Given the description of an element on the screen output the (x, y) to click on. 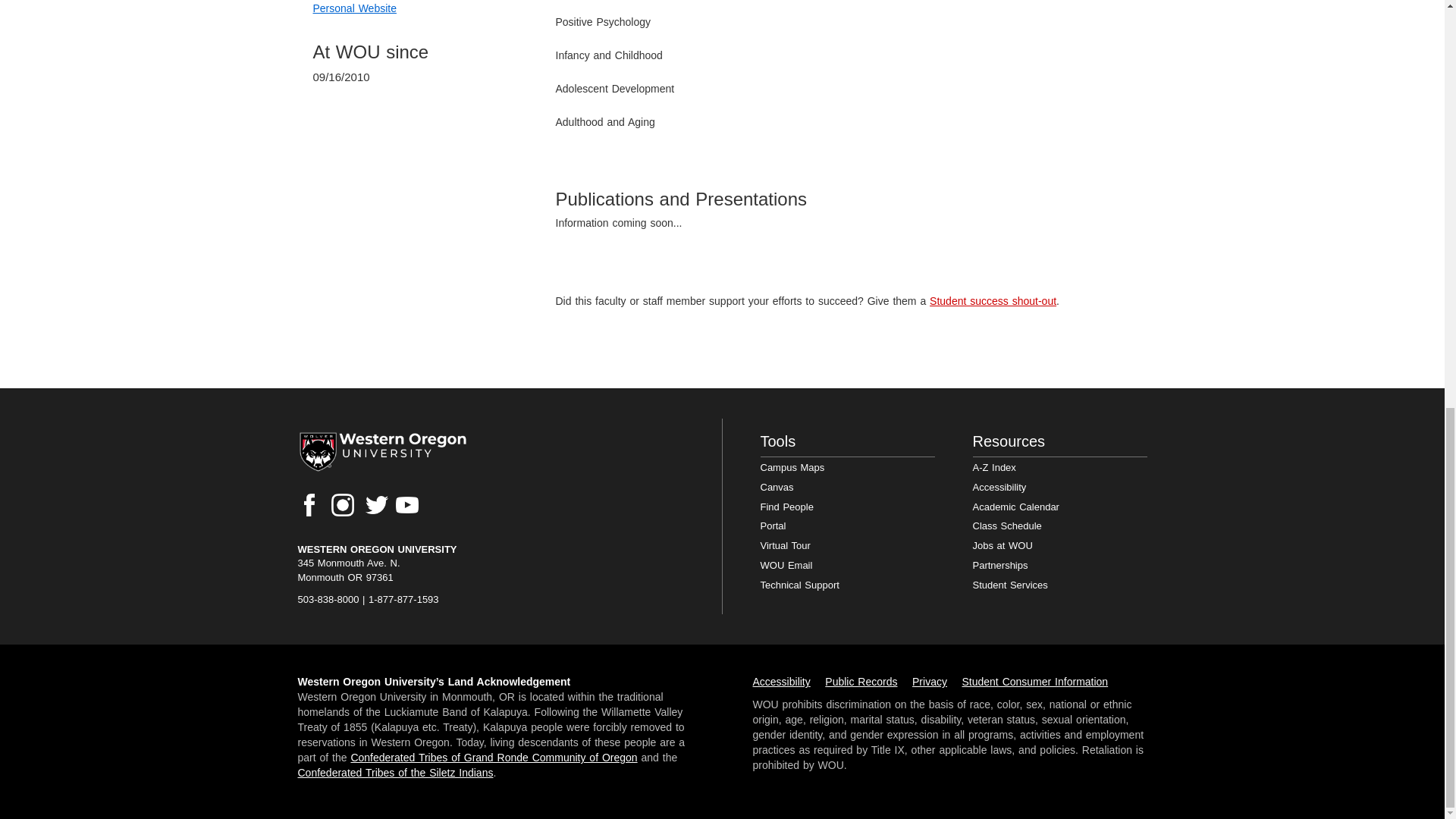
Twitter (376, 504)
Instagram (342, 504)
Facebook (308, 504)
YouTube (407, 504)
